Given the description of an element on the screen output the (x, y) to click on. 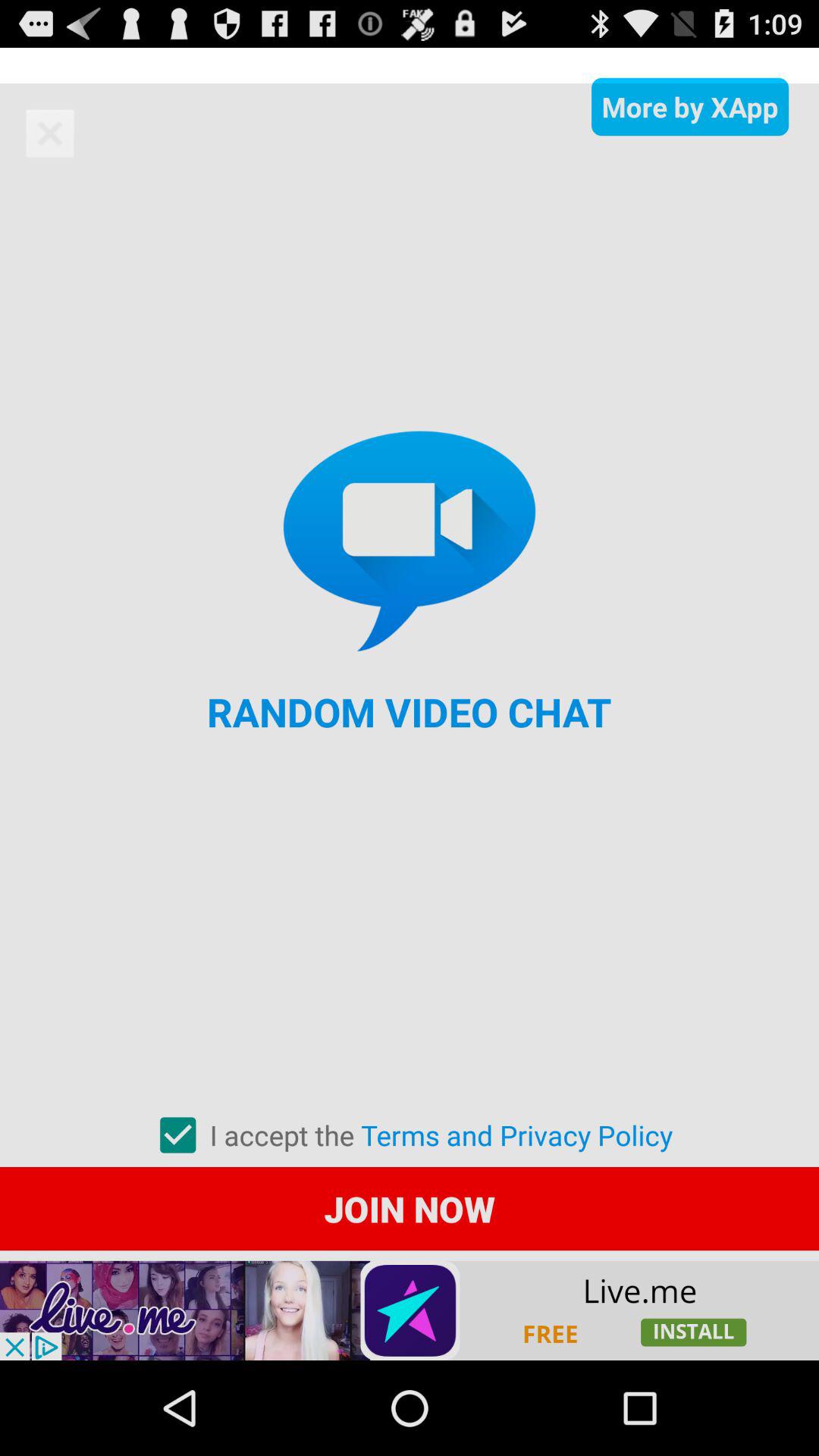
advertisement (409, 1310)
